Given the description of an element on the screen output the (x, y) to click on. 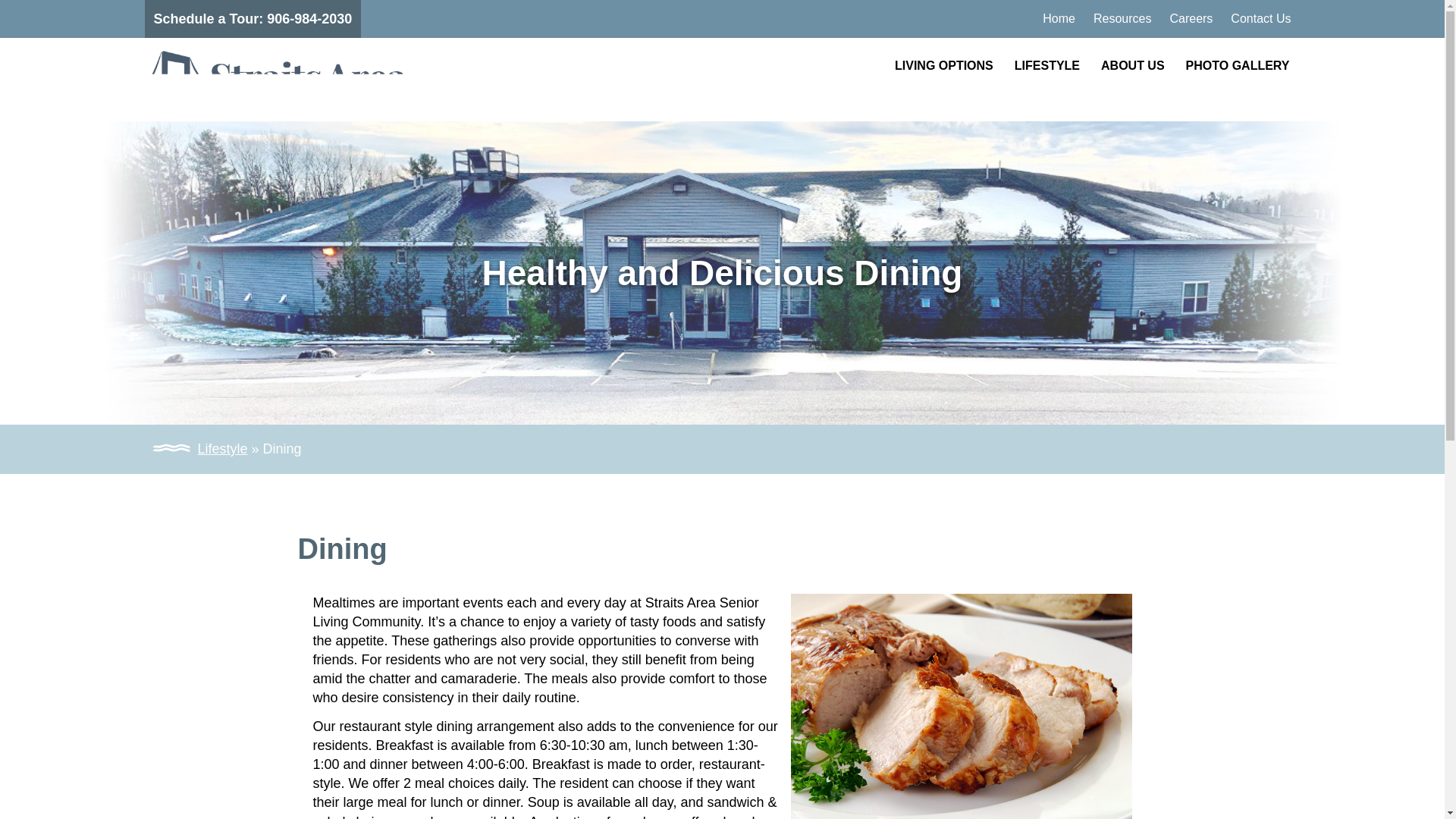
ABOUT US (1132, 65)
LIVING OPTIONS (943, 65)
Careers (1190, 18)
Schedule a Tour: 906-984-2030 (252, 18)
Home (1058, 18)
PHOTO GALLERY (1237, 65)
Resources (1122, 18)
Lifestyle (221, 448)
LIFESTYLE (1047, 65)
Contact Us (1260, 18)
